Given the description of an element on the screen output the (x, y) to click on. 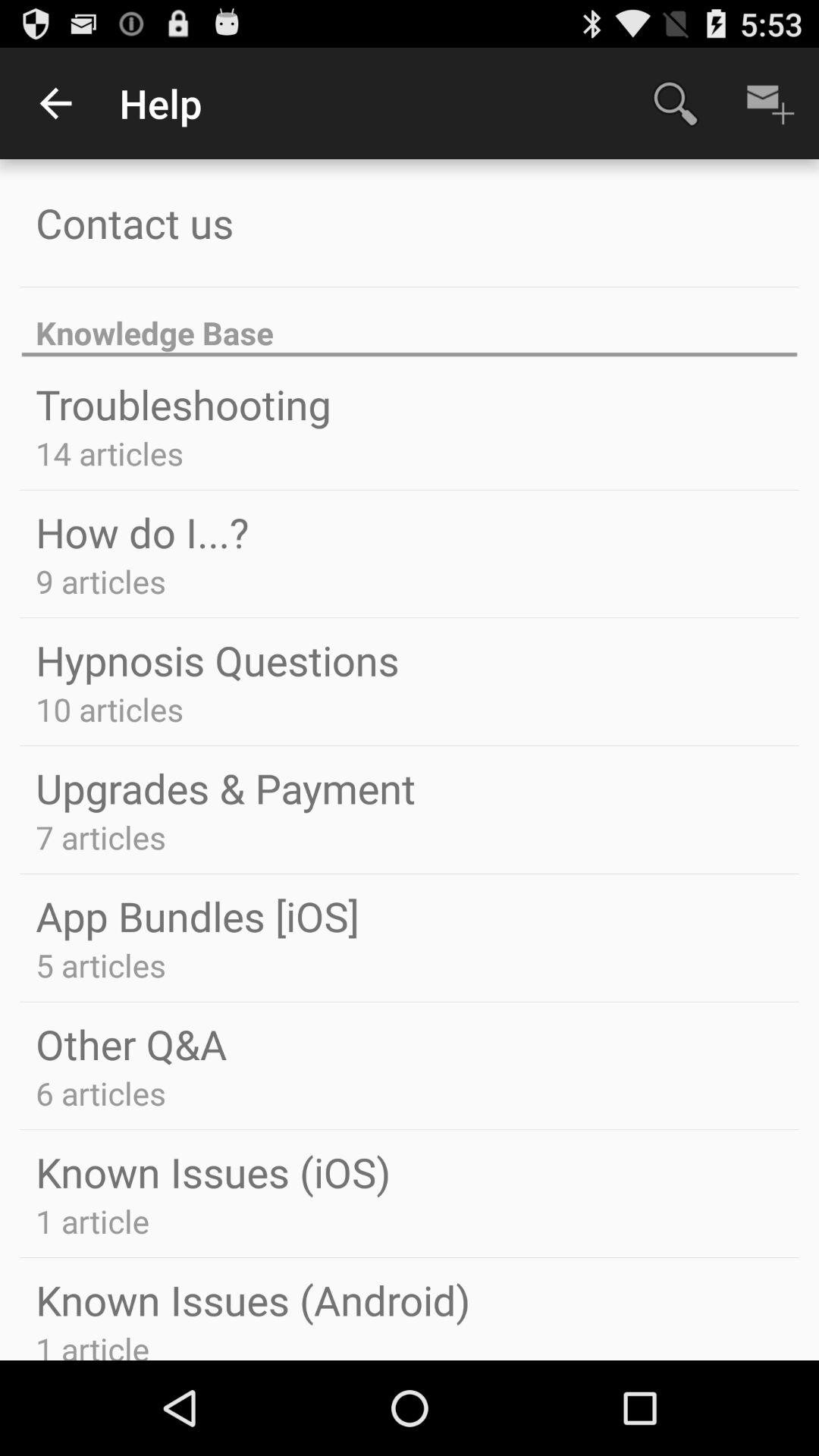
open item above the 6 articles app (130, 1043)
